Given the description of an element on the screen output the (x, y) to click on. 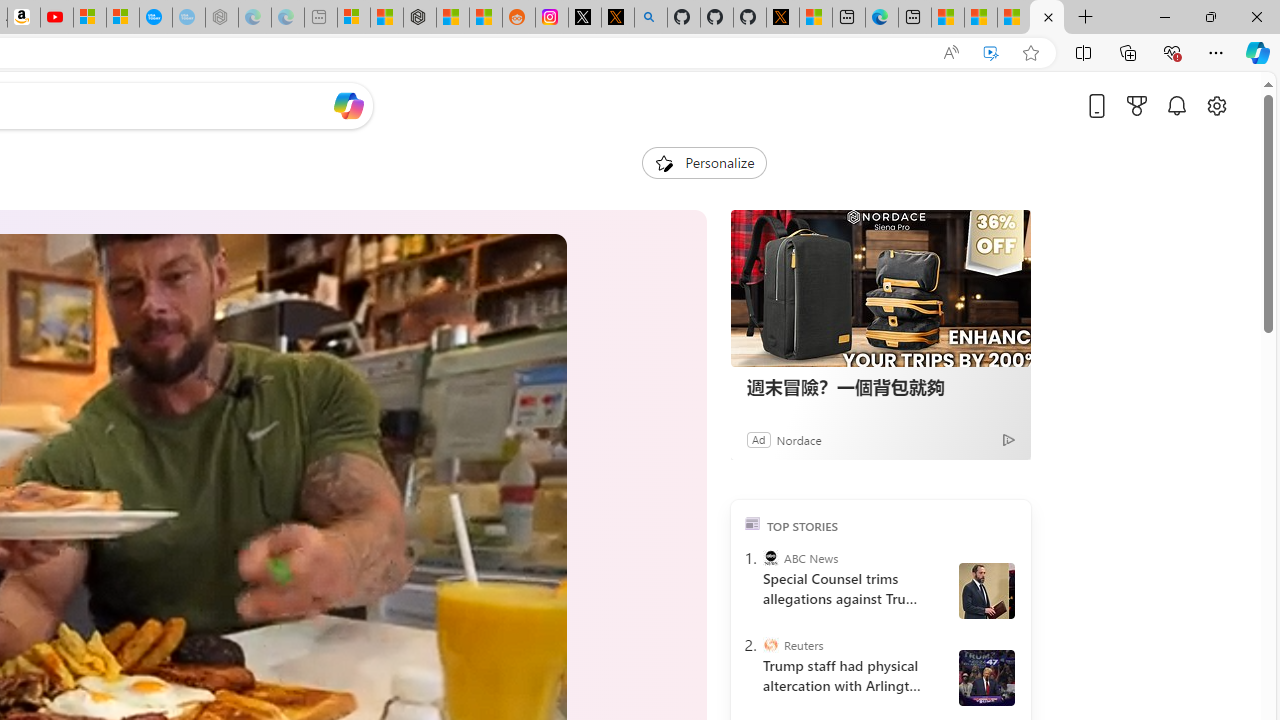
Personalize (703, 162)
Welcome to Microsoft Edge (882, 17)
github - Search (650, 17)
Enhance video (991, 53)
X Privacy Policy (782, 17)
